Given the description of an element on the screen output the (x, y) to click on. 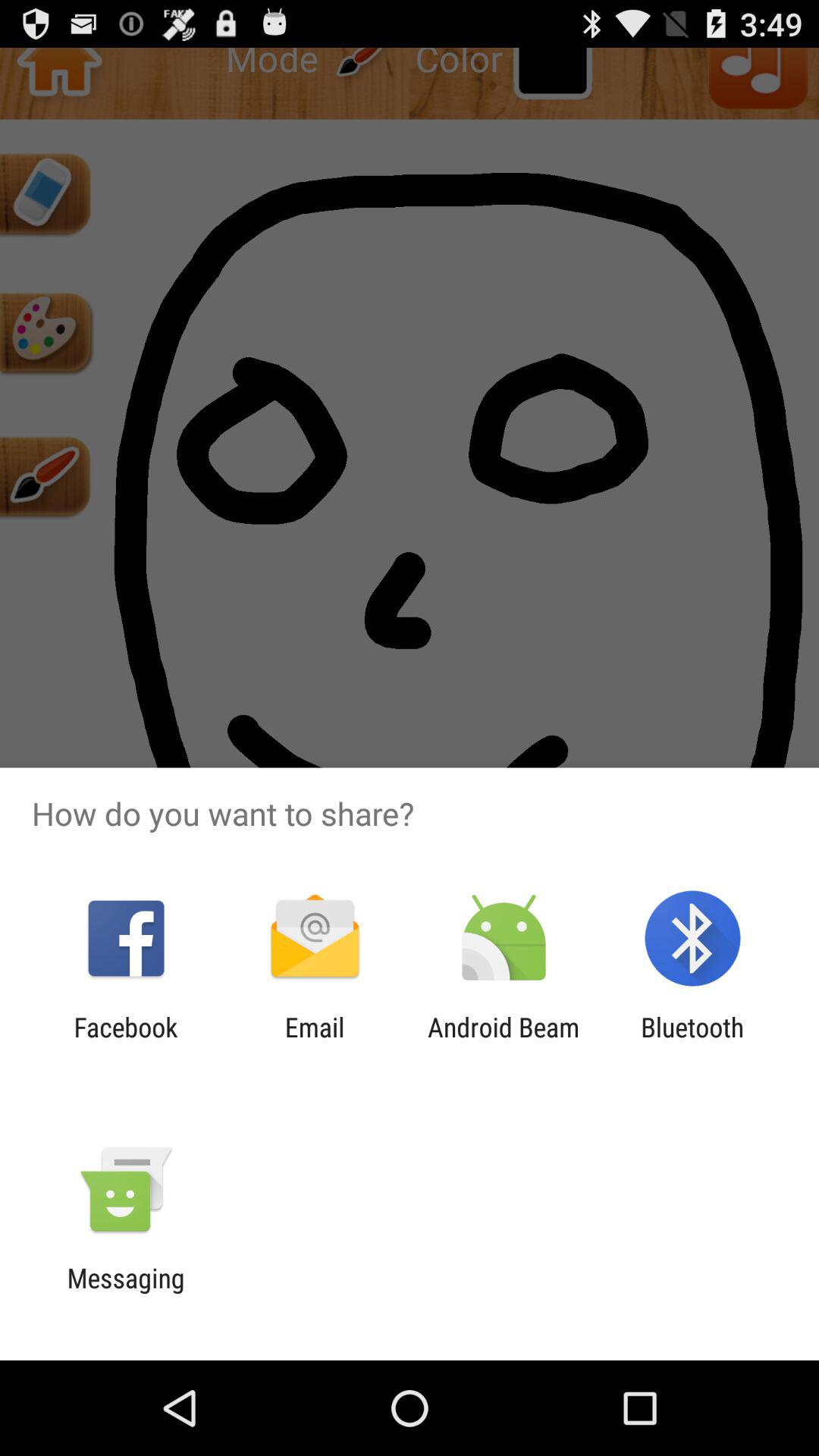
tap app to the right of the facebook item (314, 1042)
